Given the description of an element on the screen output the (x, y) to click on. 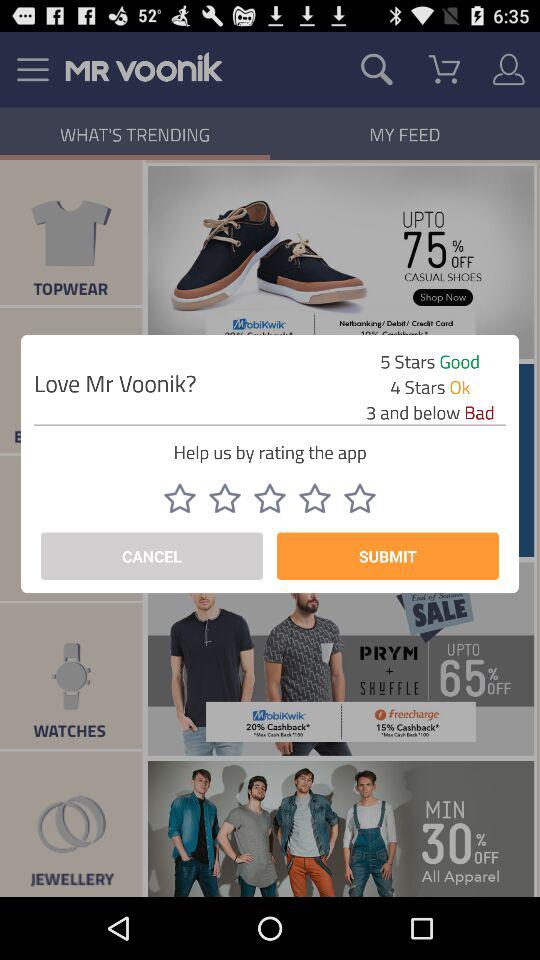
rate it with 3 stars (270, 498)
